Given the description of an element on the screen output the (x, y) to click on. 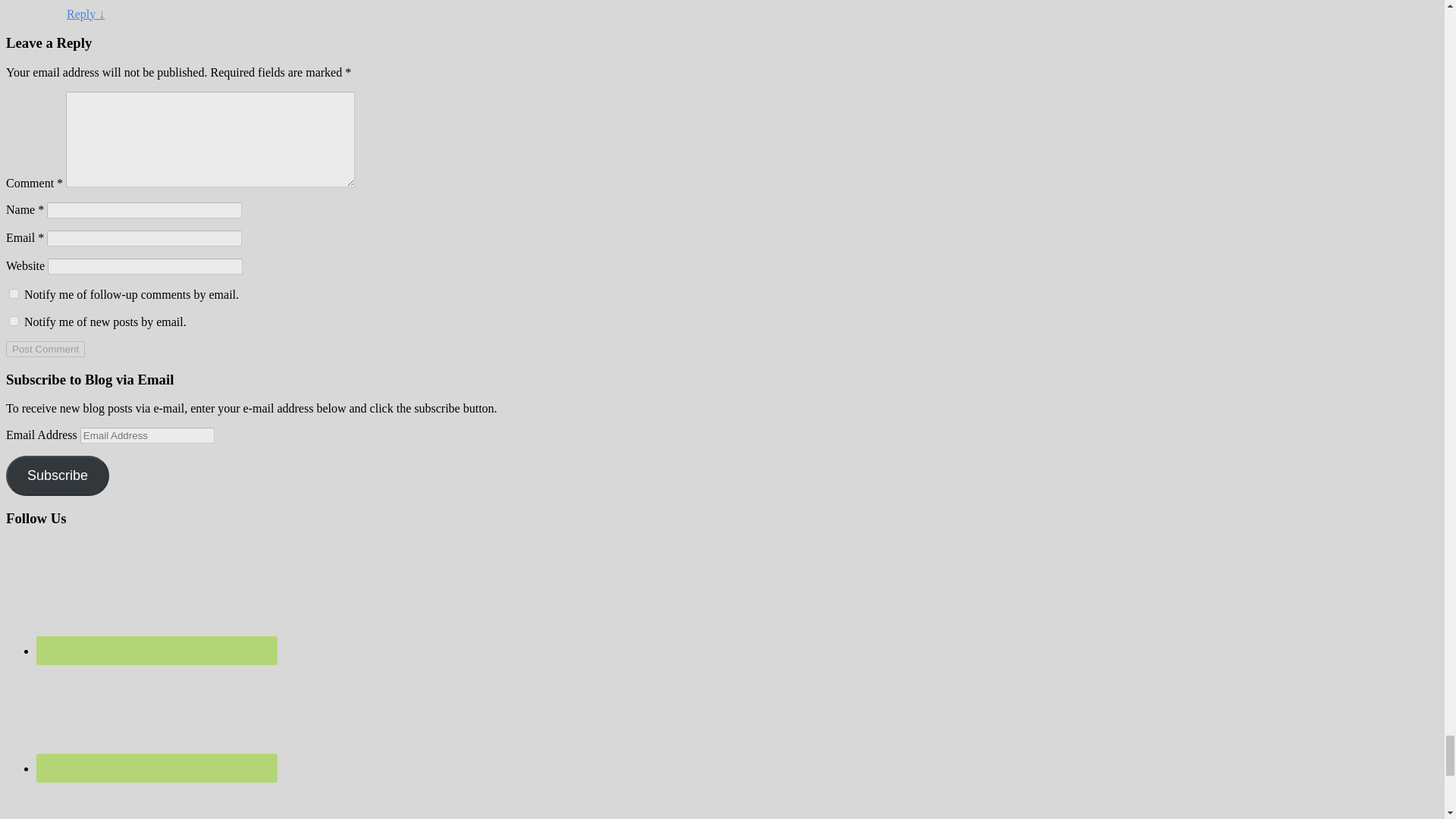
subscribe (13, 293)
subscribe (13, 320)
Post Comment (44, 349)
